Given the description of an element on the screen output the (x, y) to click on. 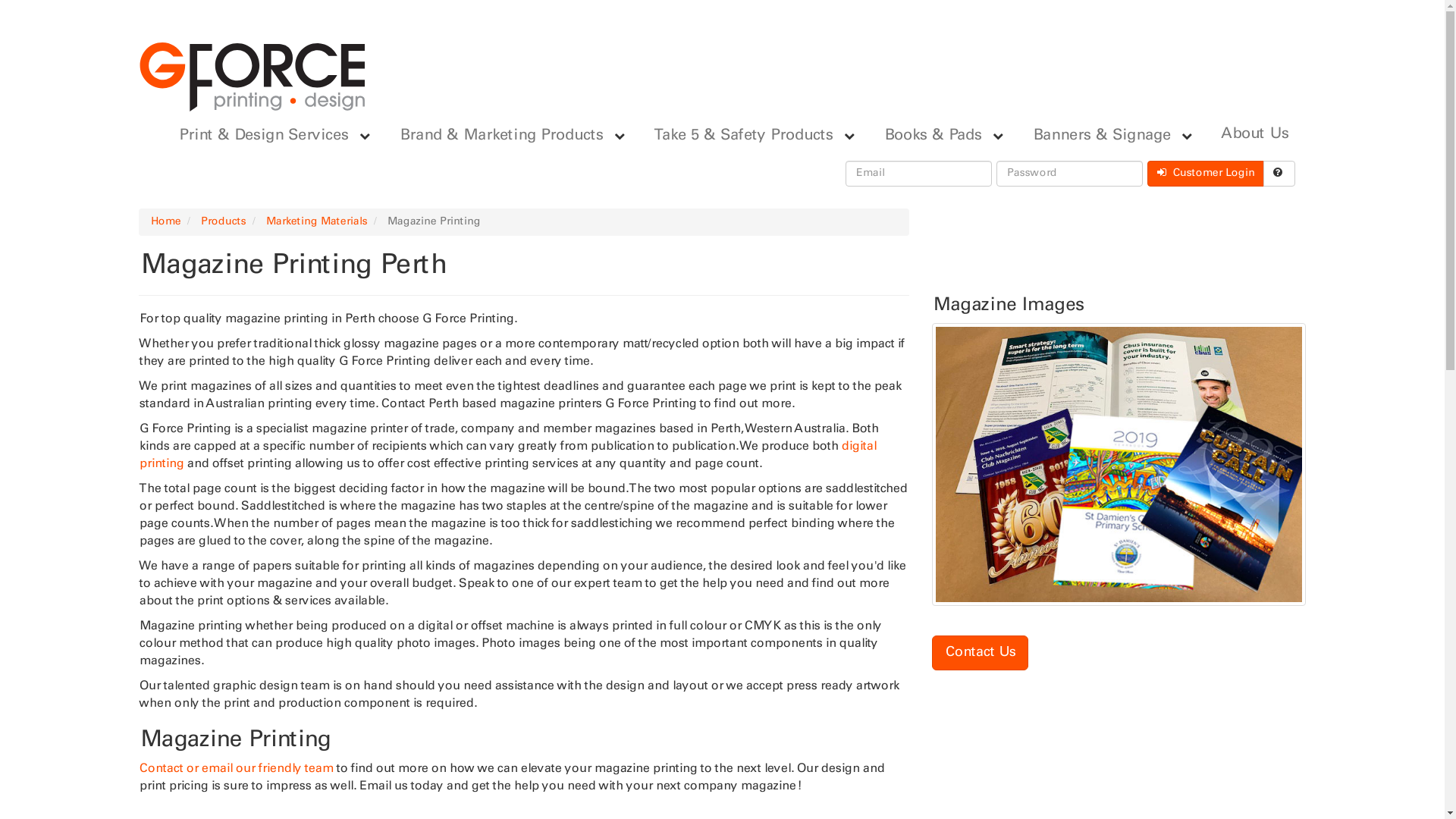
Home Element type: text (165, 221)
  Element type: text (1279, 173)
Email Element type: hover (917, 173)
digital printing Element type: text (506, 454)
Contact or email our friendly team Element type: text (235, 768)
Contact Us Element type: text (979, 652)
About Us Element type: text (1253, 134)
Brand & Marketing Products Element type: text (496, 135)
Marketing Materials Element type: text (316, 221)
Take 5 & Safety Products Element type: text (738, 135)
Books & Pads Element type: text (928, 135)
Print & Design Services Element type: text (259, 135)
Products Element type: text (222, 221)
Banners & Signage Element type: text (1097, 135)
Password Element type: hover (1069, 173)
  Customer Login Element type: text (1204, 173)
